Given the description of an element on the screen output the (x, y) to click on. 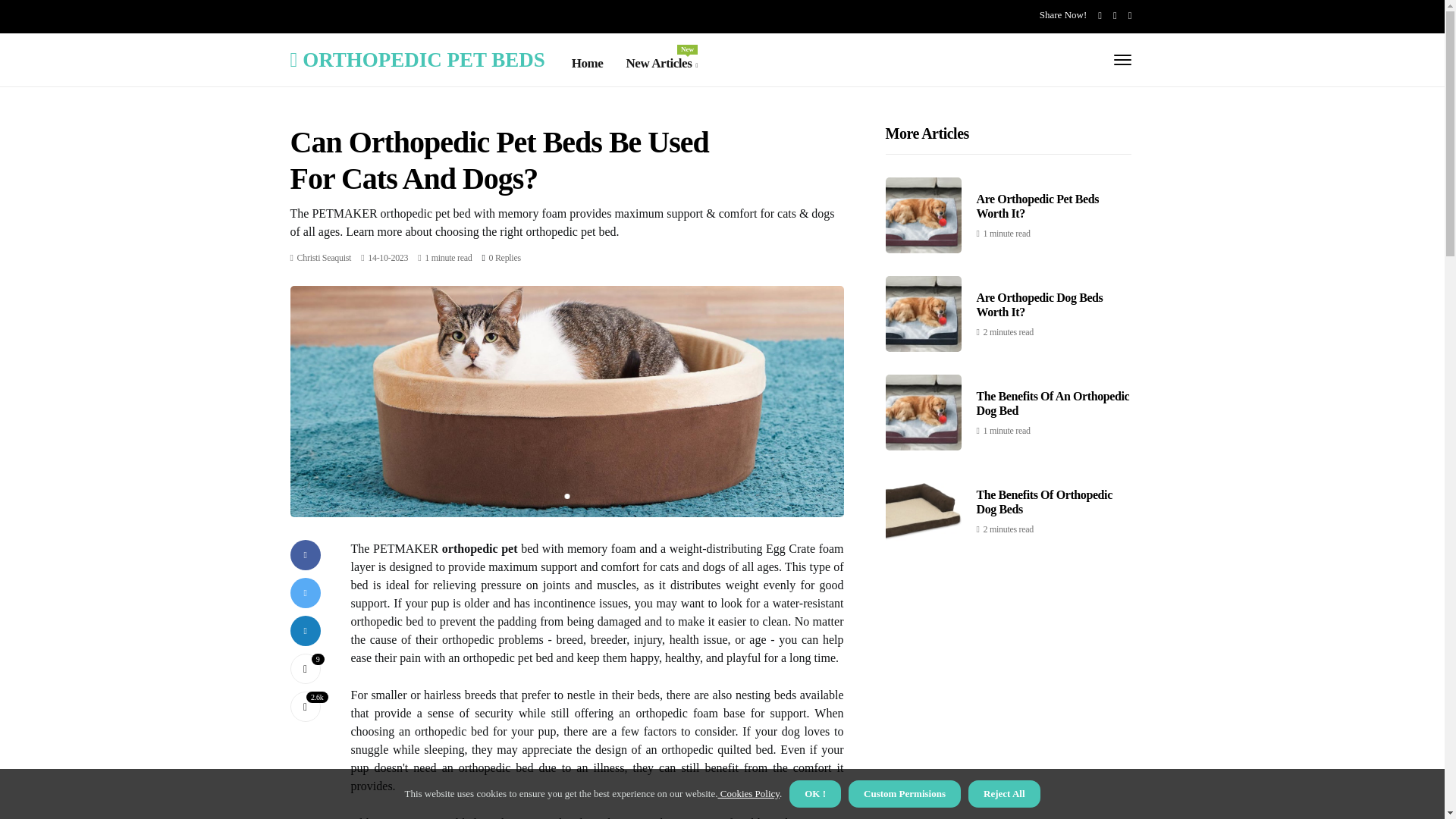
Are Orthopedic Pet Beds Worth It? (1037, 206)
Posts by Christi Seaquist (661, 63)
9 (324, 257)
Like (304, 668)
Are Orthopedic Dog Beds Worth It? (304, 668)
Christi Seaquist (1039, 304)
1 (324, 257)
ORTHOPEDIC PET BEDS (503, 257)
